Given the description of an element on the screen output the (x, y) to click on. 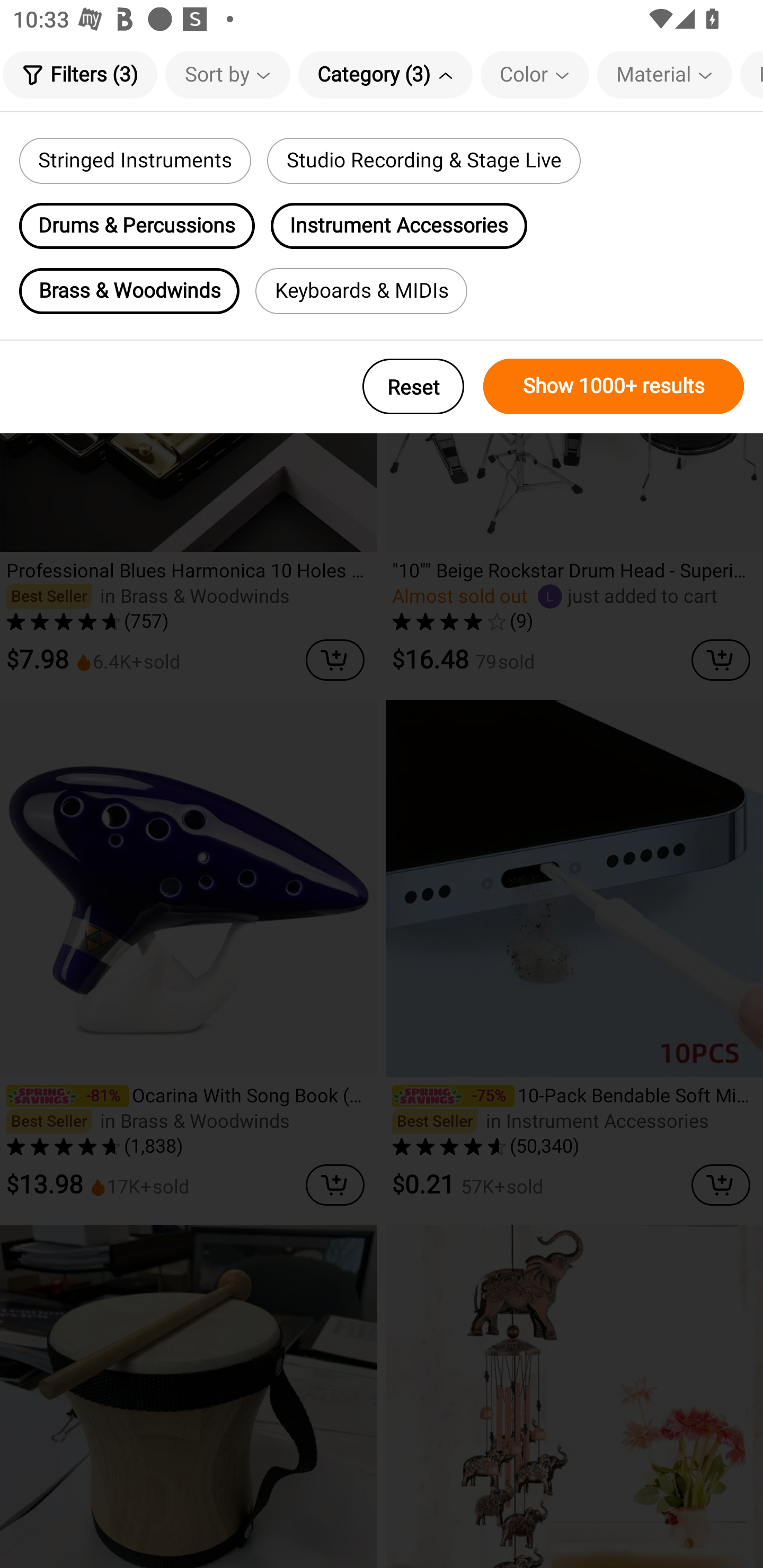
Filters (3) (79, 74)
Sort by (227, 74)
Category (3) (385, 74)
Color (534, 74)
Material (664, 74)
Stringed Instruments (135, 160)
Studio Recording & Stage Live (423, 160)
Drums & Percussions (136, 225)
Instrument Accessories (398, 225)
Brass & Woodwinds (129, 290)
Keyboards & MIDIs (360, 290)
Reset (412, 386)
Show 1000+ results (612, 386)
